Given the description of an element on the screen output the (x, y) to click on. 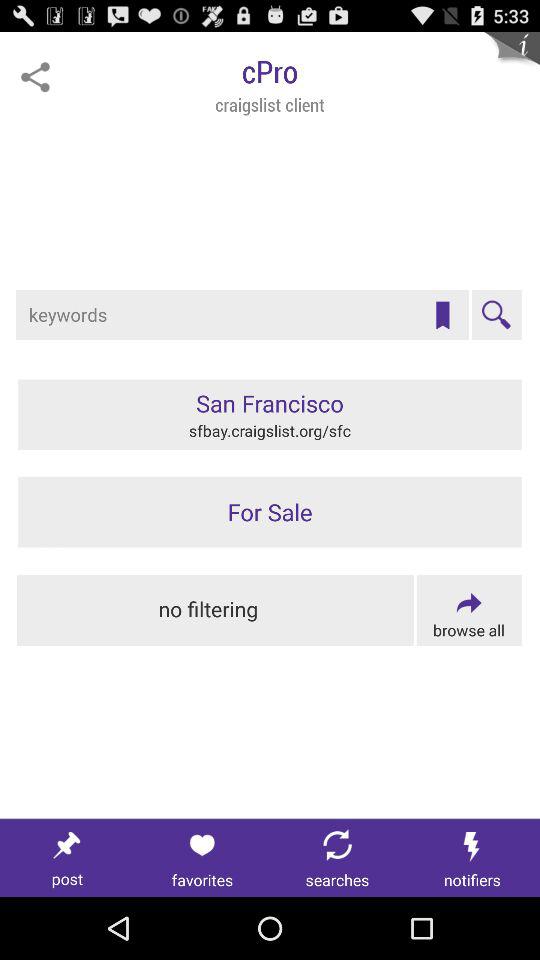
go to posts (67, 858)
